Given the description of an element on the screen output the (x, y) to click on. 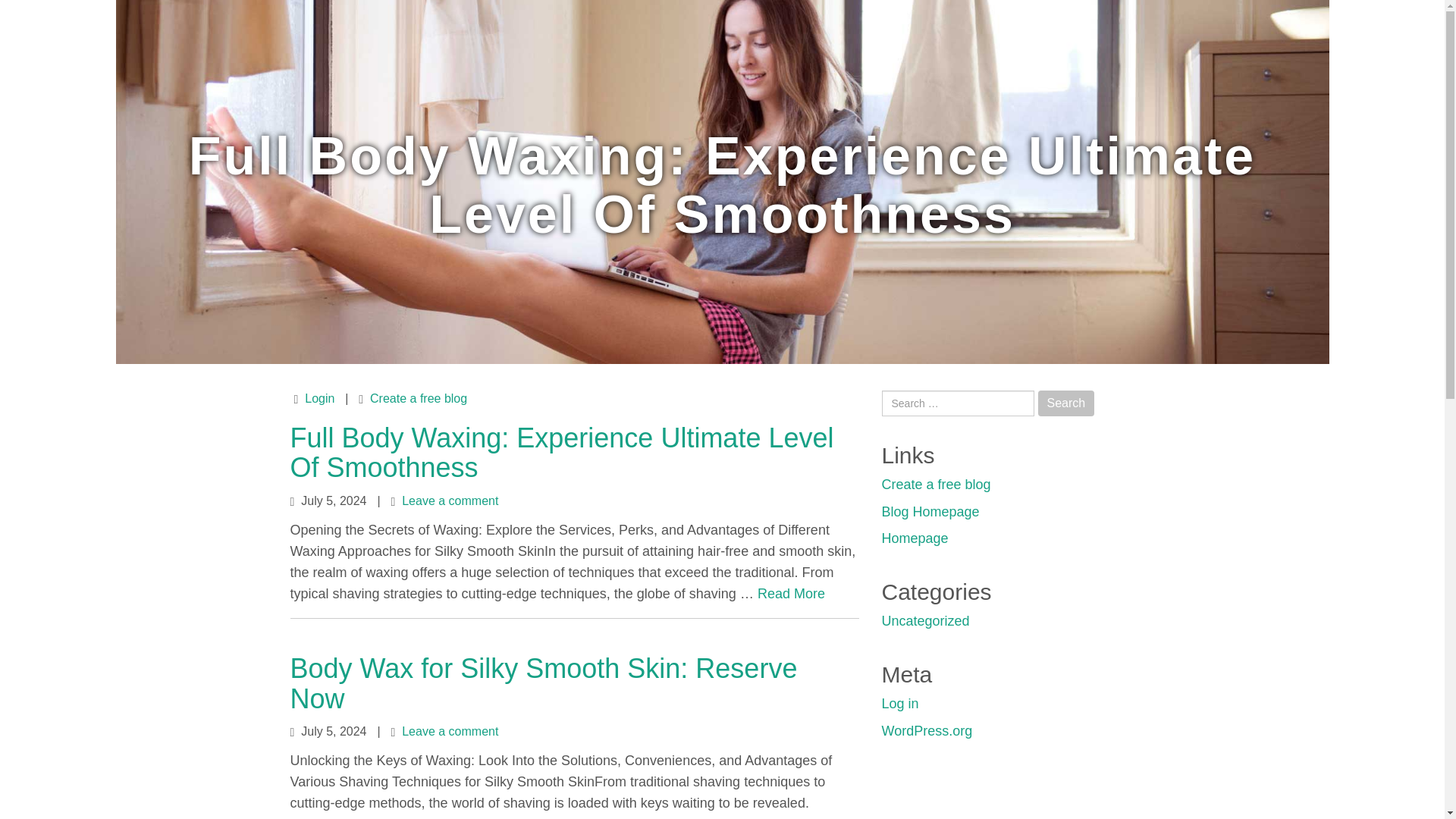
Create a free blog (418, 398)
Leave a comment (449, 500)
Body Wax for Silky Smooth Skin: Reserve Now (542, 683)
WordPress.org (926, 730)
Search (1066, 403)
Full Body Waxing: Experience Ultimate Level Of Smoothness (560, 453)
Search (1066, 403)
Log in (899, 703)
Homepage (913, 538)
Login (319, 398)
Blog Homepage (929, 511)
Read More (791, 593)
Search (1066, 403)
Create a free blog (935, 484)
